Given the description of an element on the screen output the (x, y) to click on. 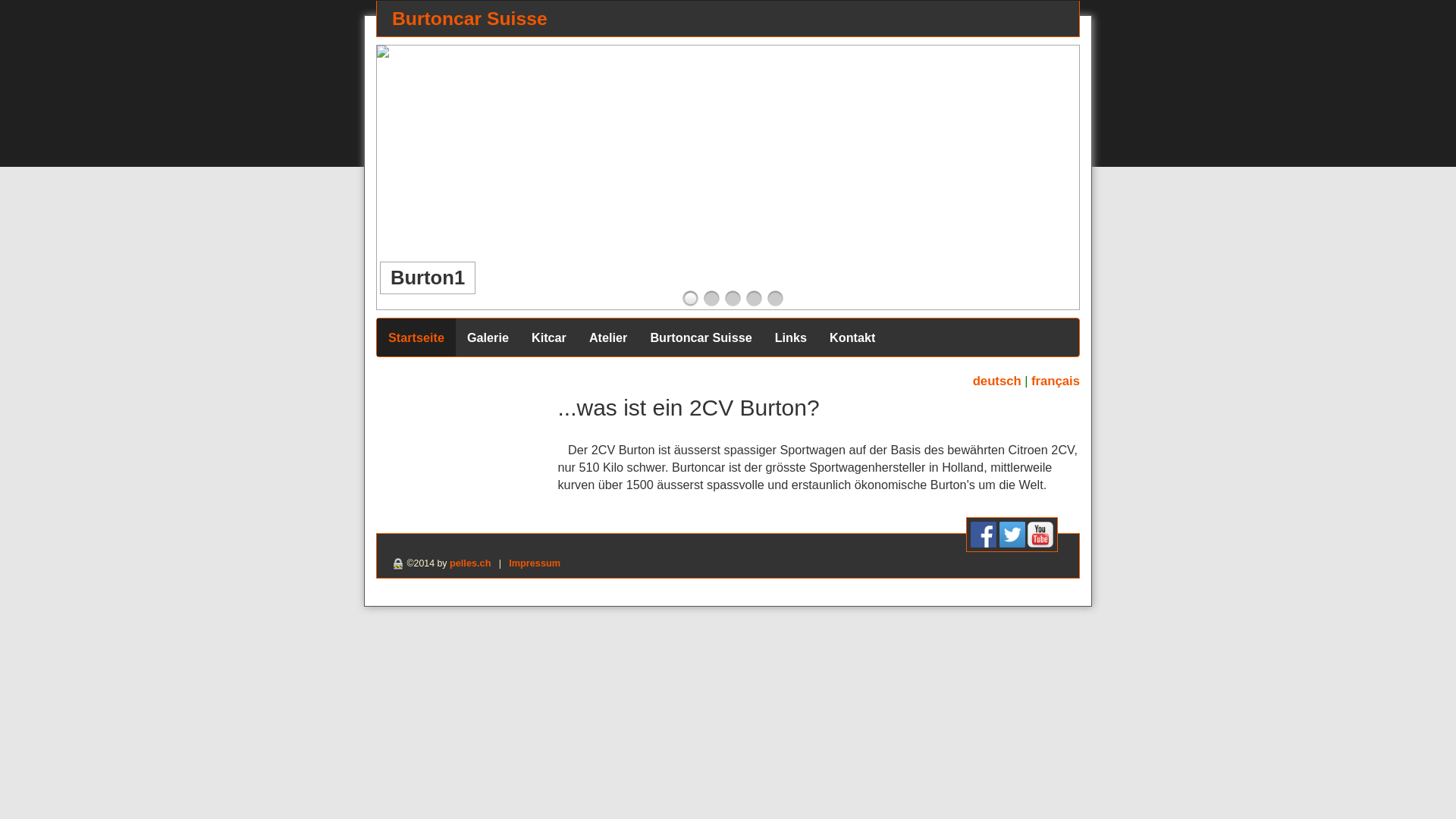
3 Element type: text (732, 298)
Burton2 Element type: hover (1085, 51)
Burton1 Element type: hover (382, 51)
Kitcar Element type: text (548, 337)
4 Element type: text (753, 298)
Startseite Element type: text (415, 337)
Atelier Element type: text (607, 337)
2 Element type: text (711, 298)
pelles.ch Element type: text (469, 562)
Galerie Element type: text (487, 337)
1 Element type: text (690, 298)
Kontakt Element type: text (852, 337)
                       Element type: text (1028, 288)
5 Element type: text (775, 298)
Links Element type: text (790, 337)
Impressum Element type: text (534, 562)
Burtoncar Suisse Element type: text (700, 337)
deutsch Element type: text (996, 380)
